Given the description of an element on the screen output the (x, y) to click on. 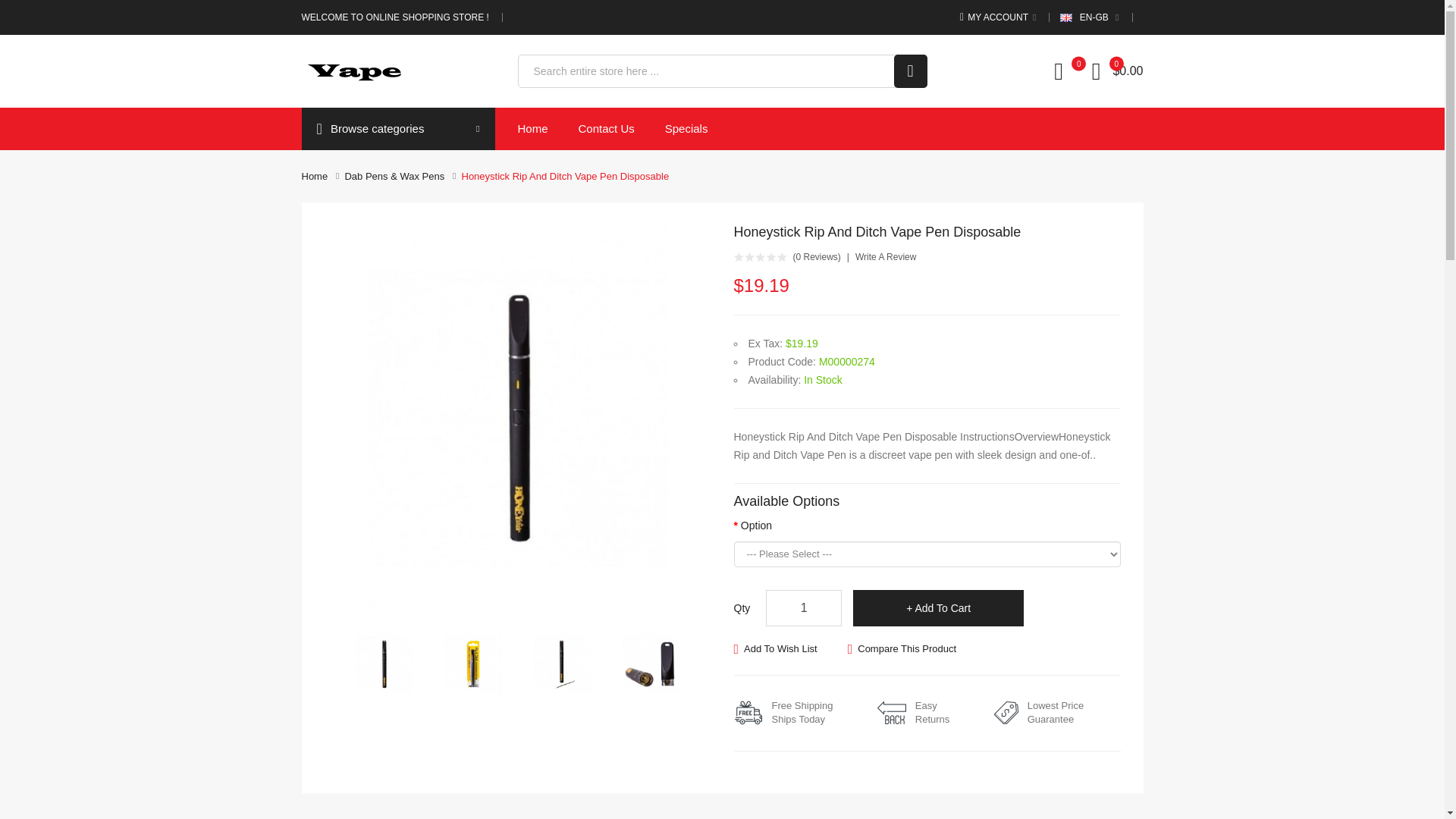
Honeystick Rip And Ditch Vape Pen Disposable (473, 664)
Honeystick Rip And Ditch Vape Pen Disposable (561, 664)
Specials (686, 128)
1 (803, 607)
Honeystick Rip And Ditch Vape Pen Disposable (473, 662)
EN-GB (1088, 17)
vaporeach (356, 70)
Add to Cart (938, 607)
Home (315, 175)
Honeystick Rip And Ditch Vape Pen Disposable (384, 664)
